Given the description of an element on the screen output the (x, y) to click on. 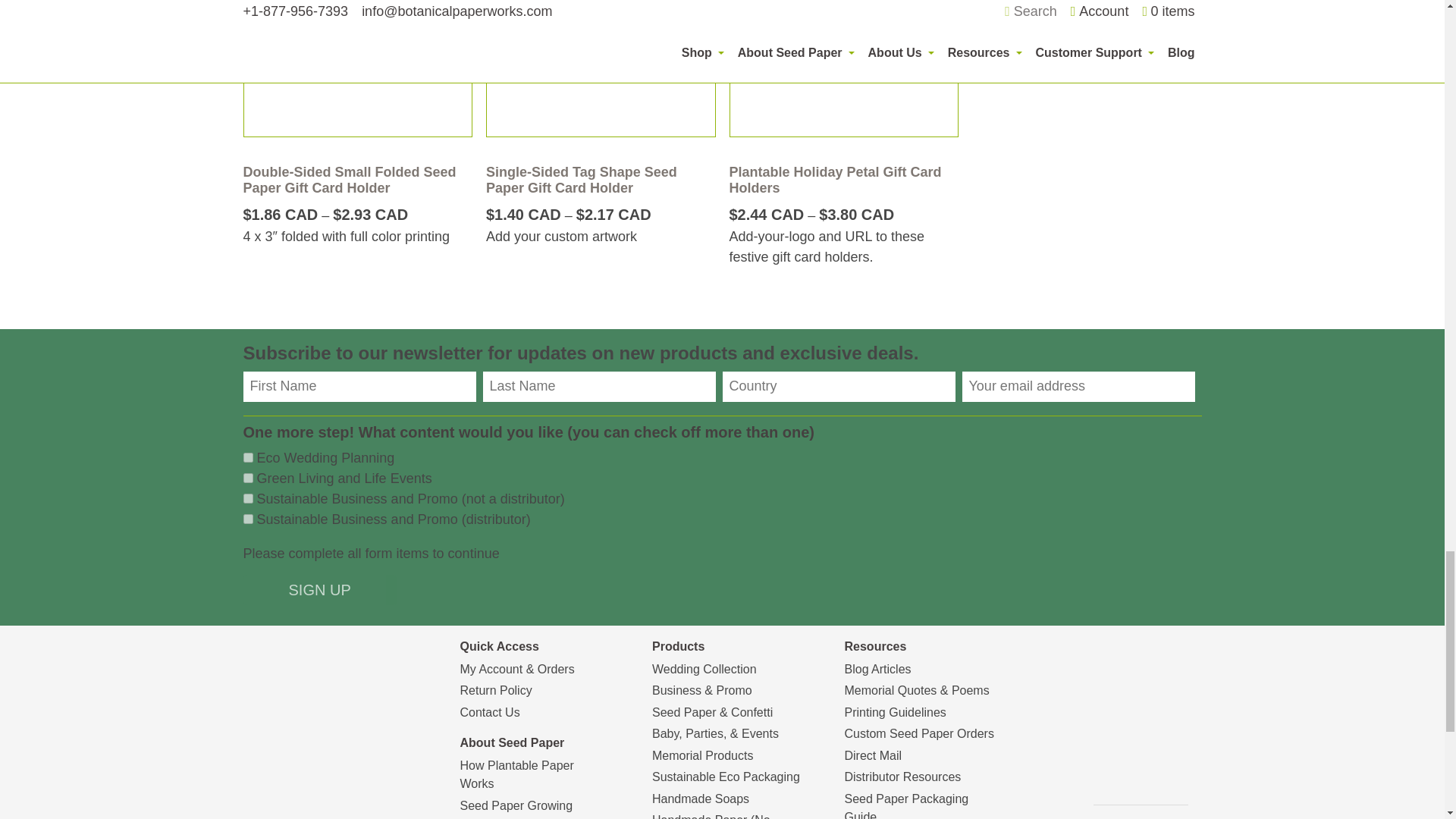
b3a7c6e35e (247, 519)
de72e68fef (247, 457)
Sign up (319, 589)
ffe58d4ca5 (247, 478)
f8bb024828 (247, 498)
